Given the description of an element on the screen output the (x, y) to click on. 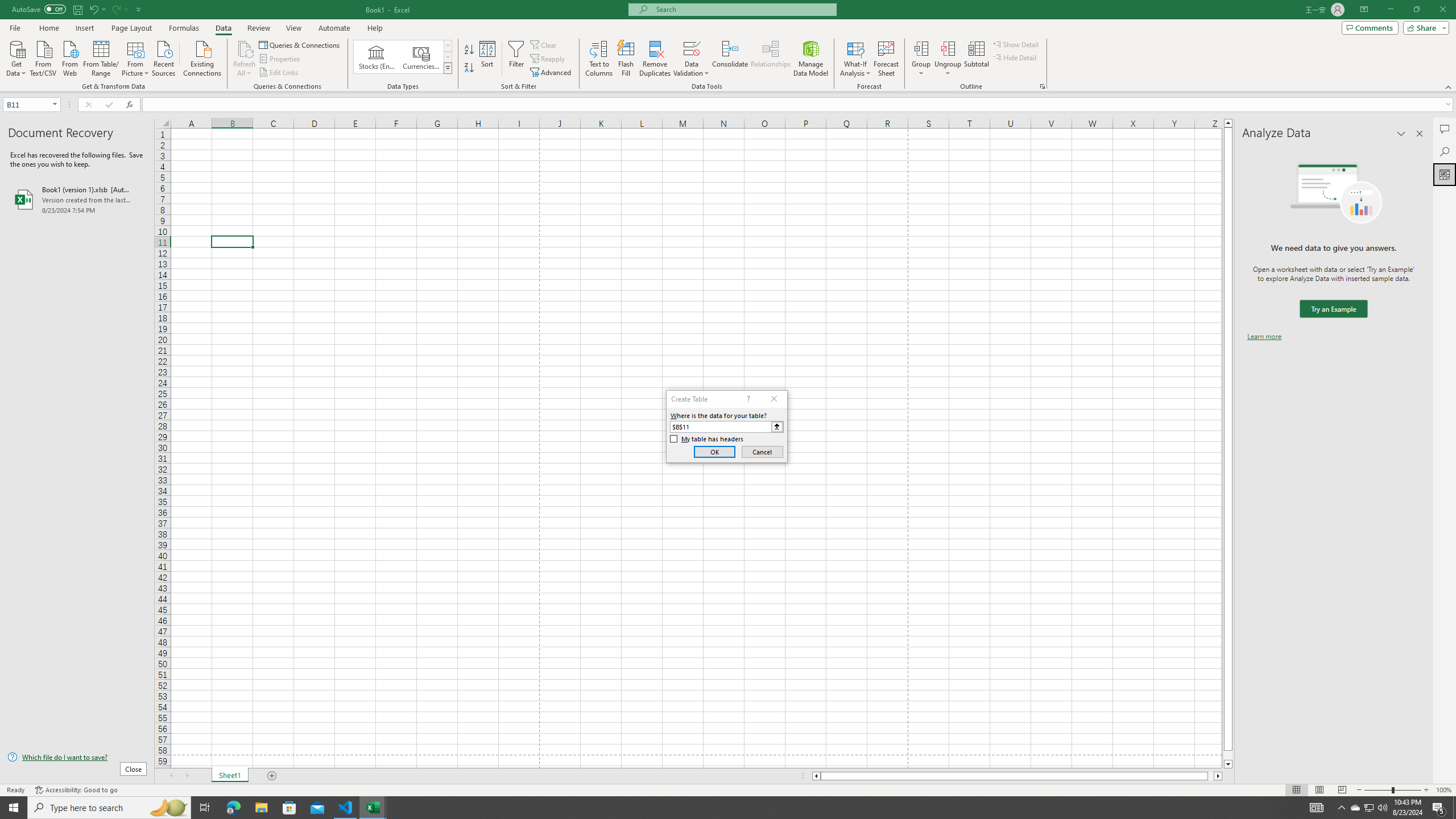
AutomationID: ConvertToLinkedEntity (403, 56)
Manage Data Model (810, 58)
Existing Connections (202, 57)
Reapply (548, 58)
